Given the description of an element on the screen output the (x, y) to click on. 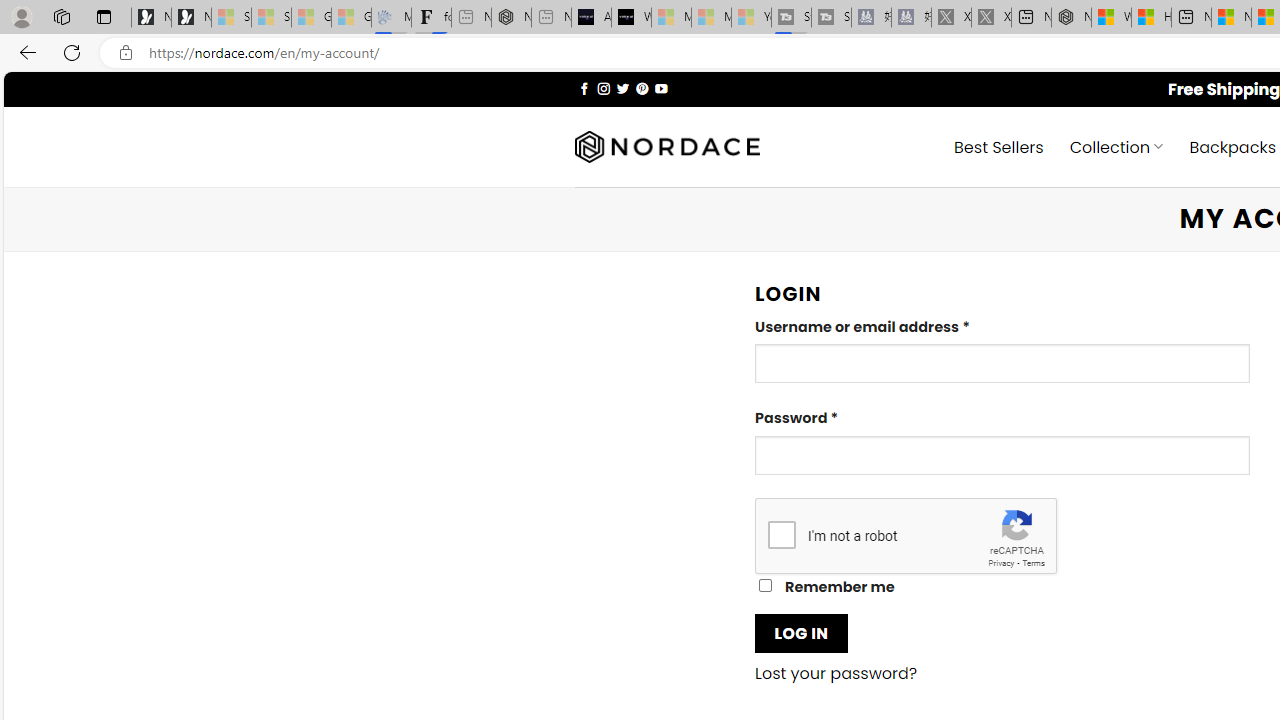
AI Voice Changer for PC and Mac - Voice.ai (591, 17)
LOG IN (801, 632)
Privacy (1001, 562)
Follow on Twitter (621, 88)
